Given the description of an element on the screen output the (x, y) to click on. 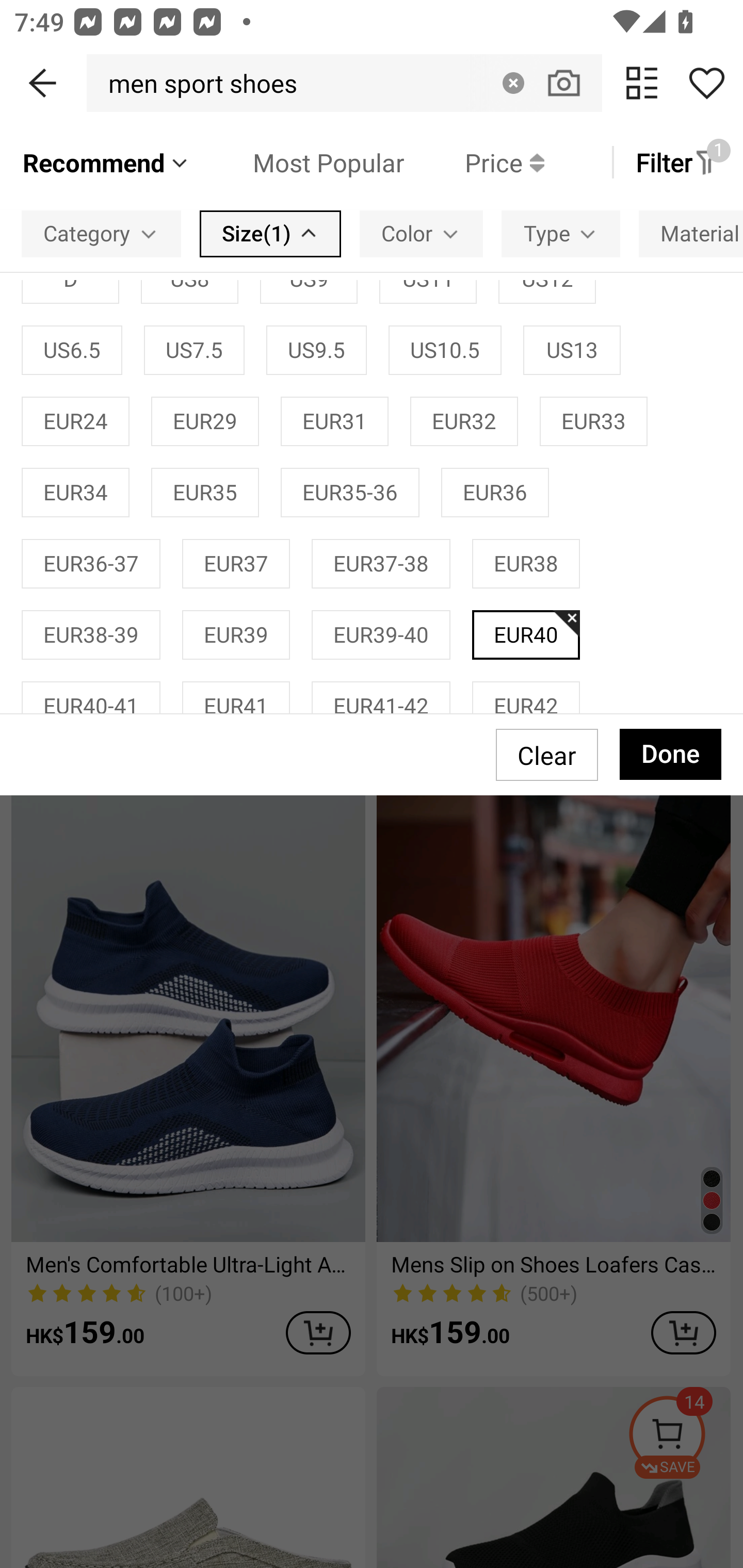
men sport shoes Clear (343, 82)
men sport shoes (197, 82)
Clear (513, 82)
change view (641, 82)
Share (706, 82)
Recommend (106, 162)
Most Popular (297, 162)
Price (474, 162)
Filter 1 (677, 162)
Category (101, 233)
Size(1) (270, 233)
Color (420, 233)
Type (560, 233)
Material (690, 233)
